Given the description of an element on the screen output the (x, y) to click on. 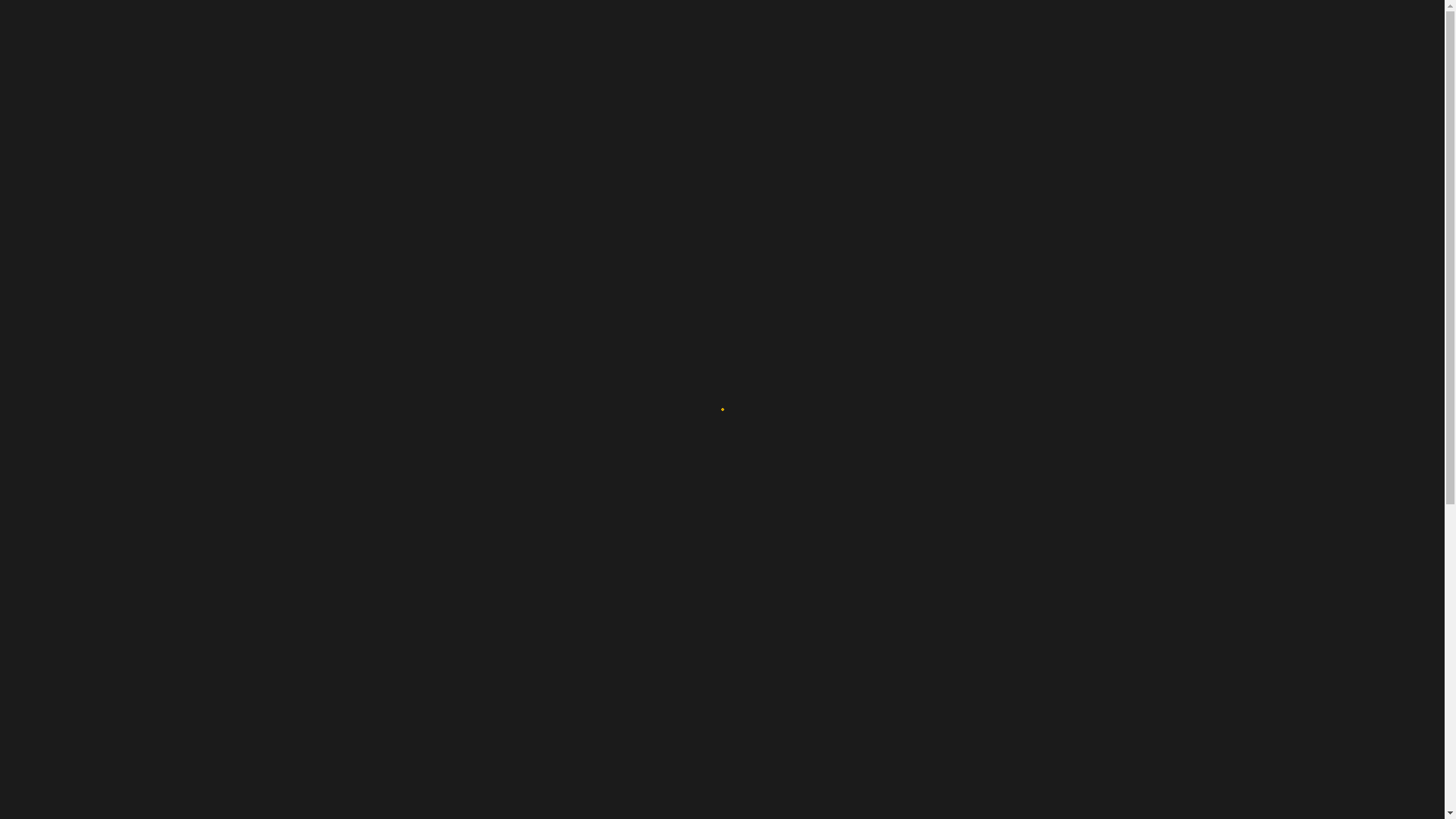
Boek nu Element type: text (779, 585)
home Element type: text (220, 30)
in de buurt Element type: text (369, 30)
contact Element type: text (568, 30)
Nu boeken! Element type: text (1367, 30)
boek nu Element type: text (642, 30)
BOEK EEN SPEL Element type: text (746, 188)
spellen Element type: text (286, 30)
HOME Element type: text (674, 188)
faq Element type: text (439, 30)
cadeau Element type: text (496, 30)
